Given the description of an element on the screen output the (x, y) to click on. 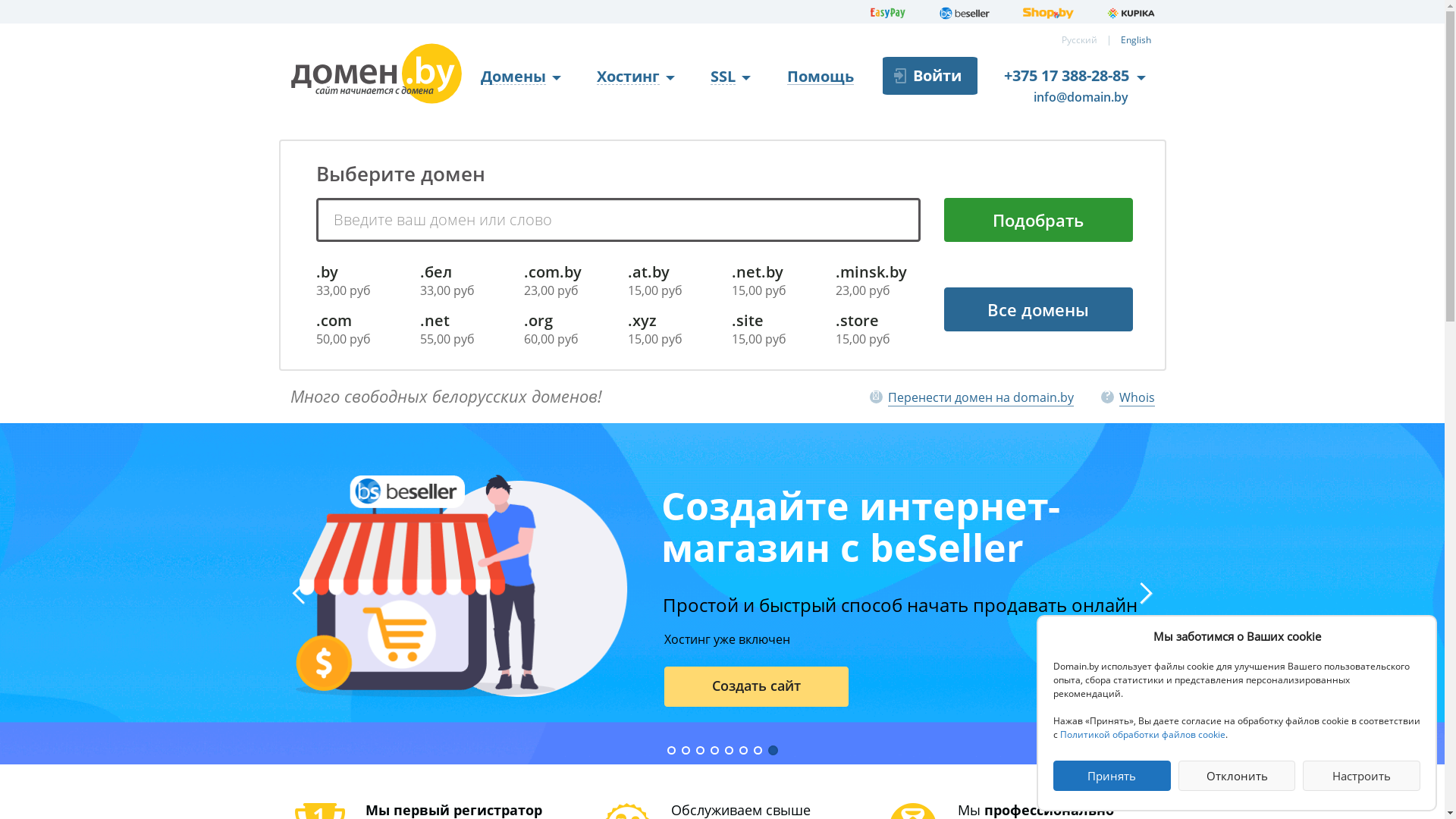
info@domain.by Element type: text (1069, 97)
4 Element type: text (713, 750)
?Whois Element type: text (1127, 396)
1 Element type: text (671, 750)
6 Element type: text (742, 750)
7 Element type: text (757, 750)
+375 17 388-28-85 Element type: text (1066, 75)
8 Element type: text (772, 750)
5 Element type: text (728, 750)
2 Element type: text (684, 750)
English Element type: text (1135, 39)
SSL Element type: text (730, 76)
3 Element type: text (700, 750)
